Given the description of an element on the screen output the (x, y) to click on. 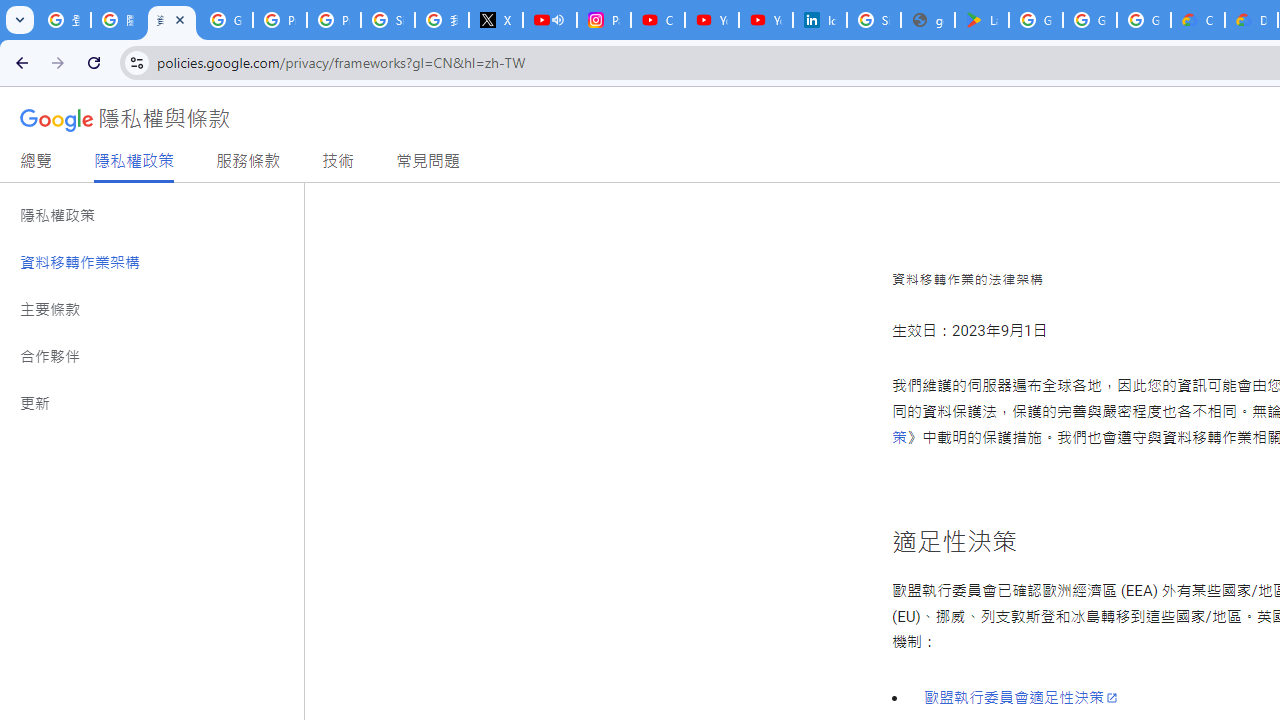
Privacy Help Center - Policies Help (333, 20)
X (495, 20)
Google Workspace - Specific Terms (1144, 20)
YouTube Culture & Trends - YouTube Top 10, 2021 (765, 20)
google_privacy_policy_en.pdf (927, 20)
